Given the description of an element on the screen output the (x, y) to click on. 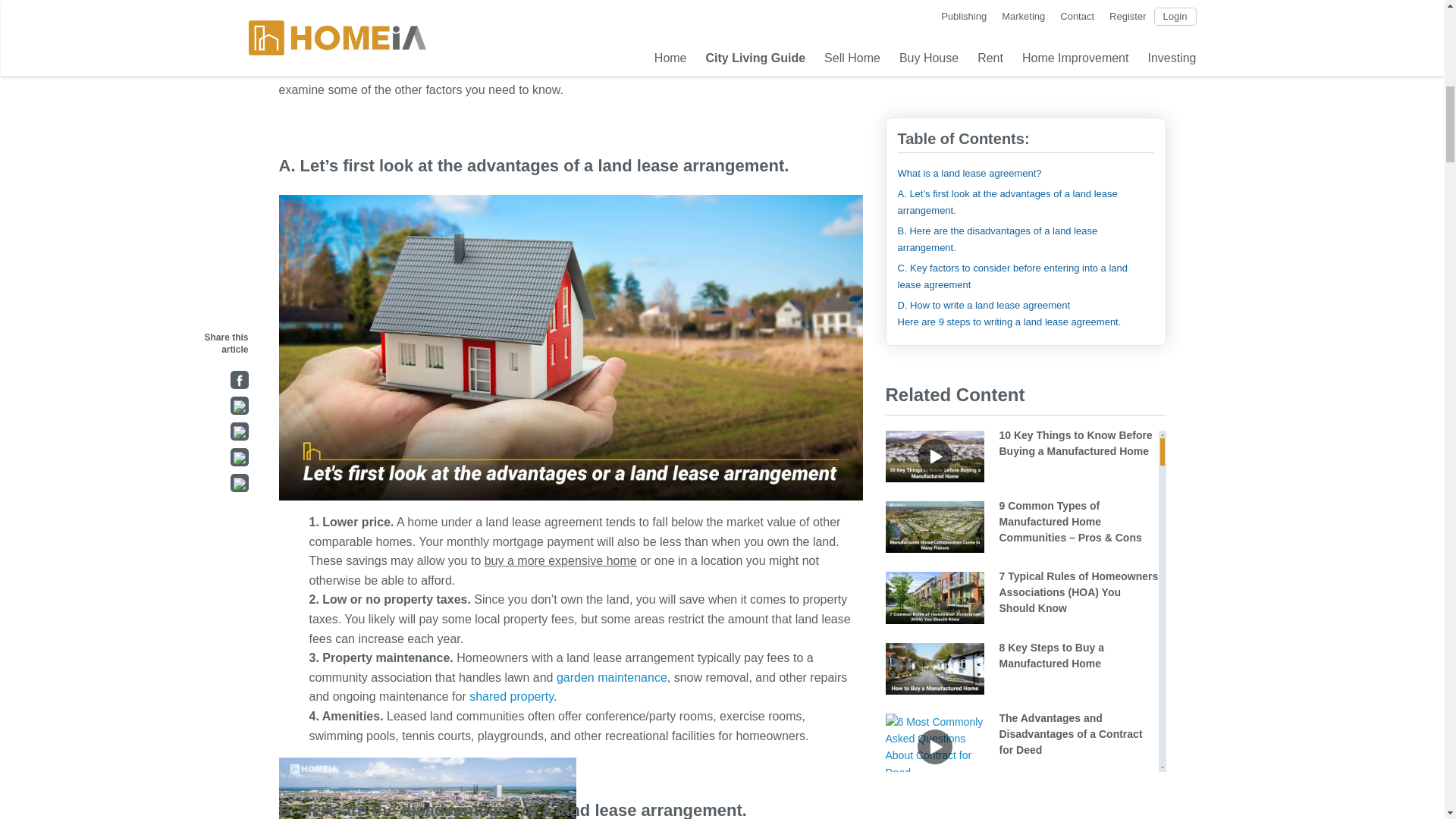
home buyer (330, 34)
garden maintenance (611, 676)
shared property (510, 696)
8 Key Steps to Buy a Manufactured Home (330, 34)
How-to Lawn Care in the Summer, by the Lawn Guy Jared (611, 676)
